Given the description of an element on the screen output the (x, y) to click on. 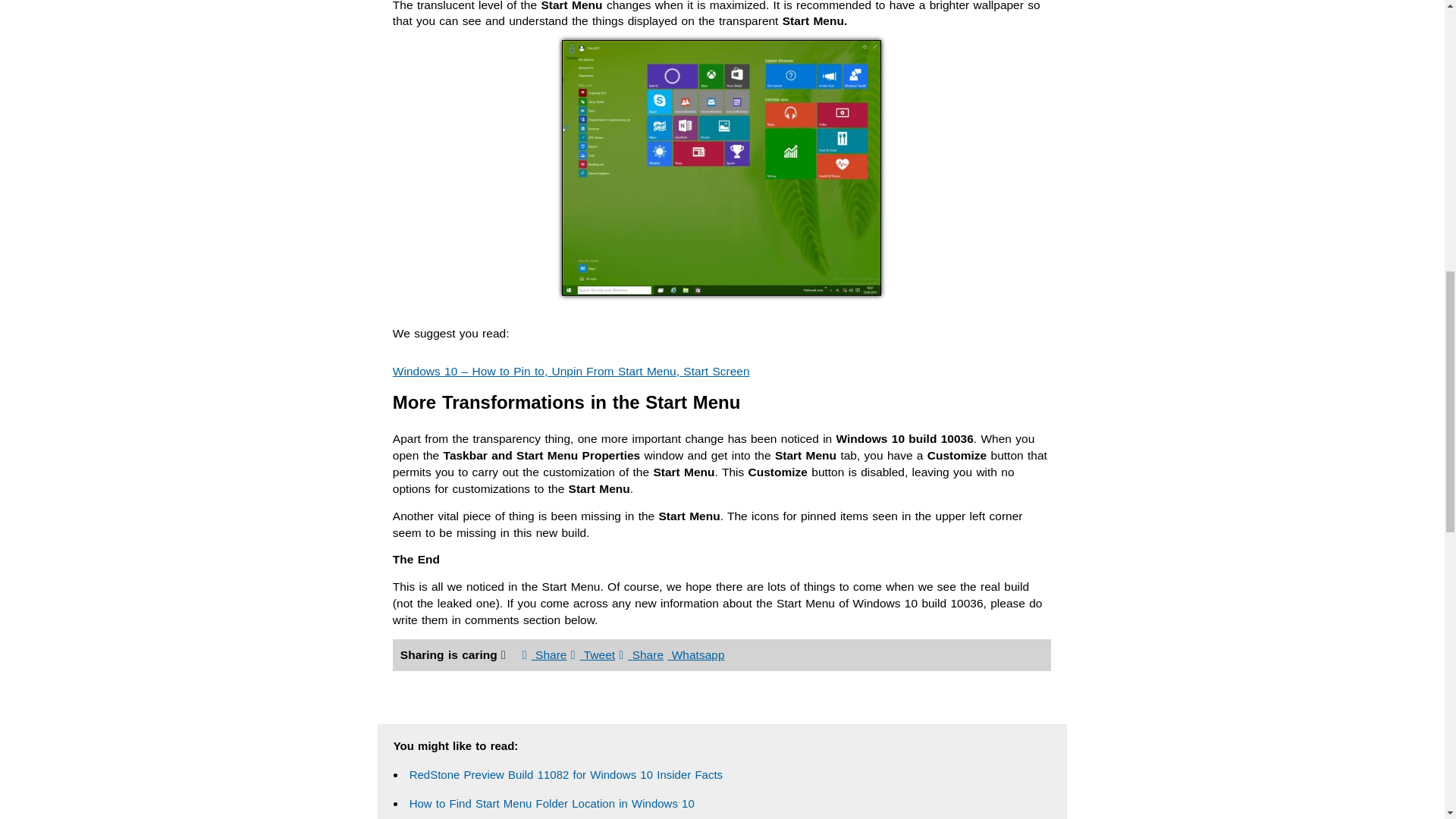
Tweet (592, 654)
Share (640, 654)
Whatsapp (694, 654)
How to Find Start Menu Folder Location in Windows 10 (551, 802)
start screen on windows tp build 10036 (721, 167)
RedStone Preview Build 11082 for Windows 10 Insider Facts (565, 774)
Share (544, 654)
